Given the description of an element on the screen output the (x, y) to click on. 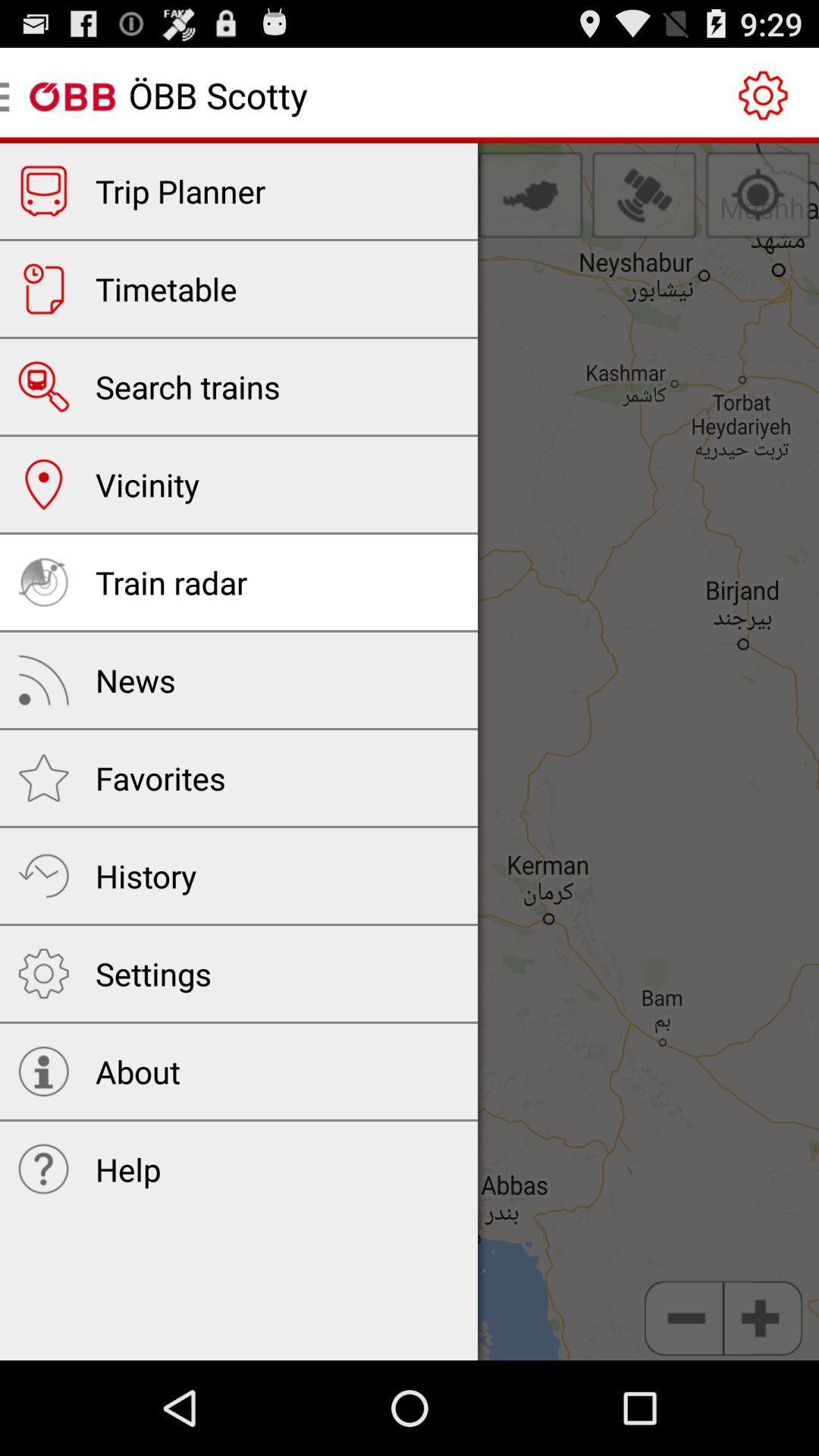
scroll until news app (135, 680)
